Given the description of an element on the screen output the (x, y) to click on. 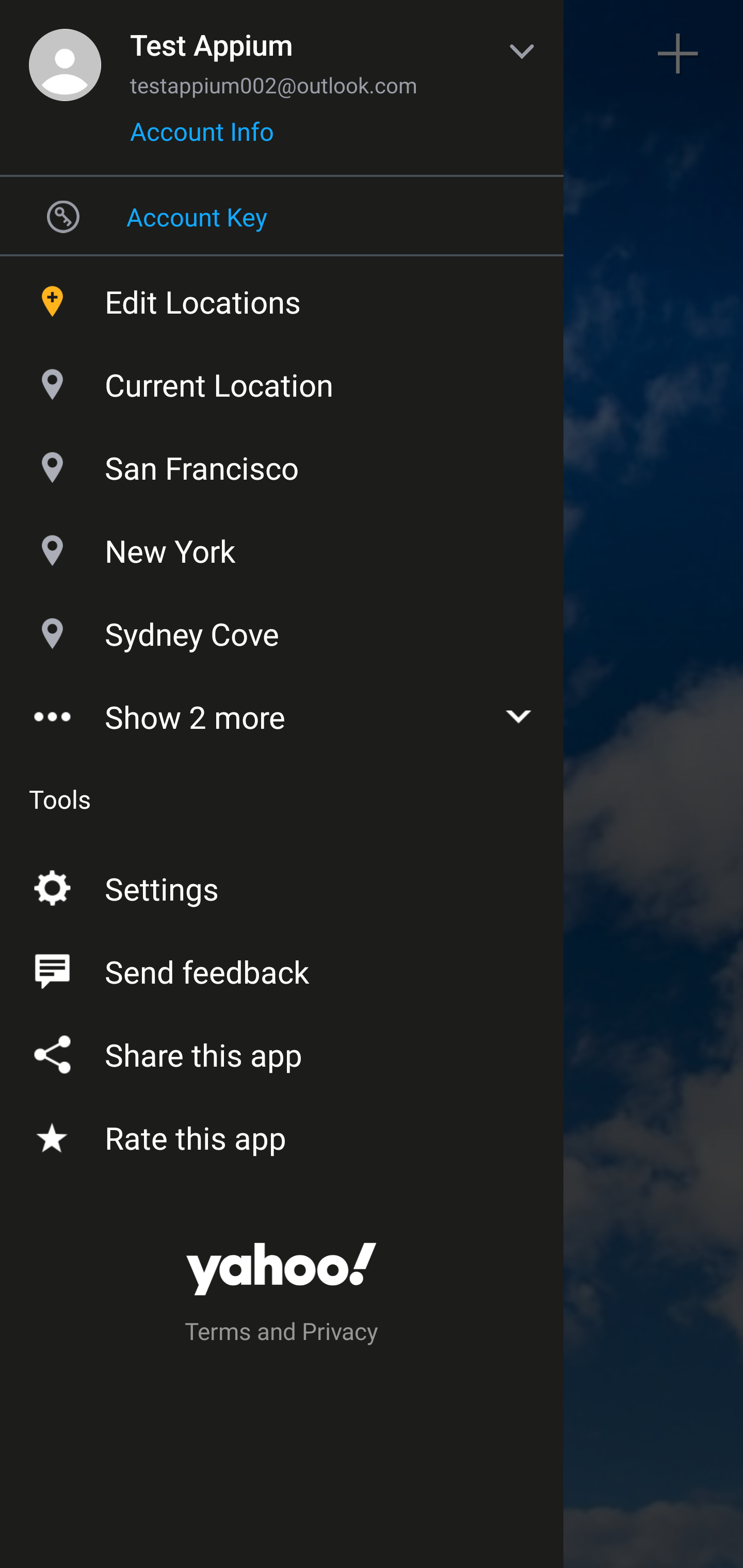
Sidebar (64, 54)
Account Info (202, 137)
Account Key (281, 216)
Edit Locations (281, 296)
Current Location (281, 379)
San Francisco (281, 462)
New York (281, 546)
Sydney Cove (281, 629)
Settings (281, 884)
Send feedback (281, 967)
Share this app (281, 1050)
Terms and Privacy Terms and privacy button (281, 1334)
